Given the description of an element on the screen output the (x, y) to click on. 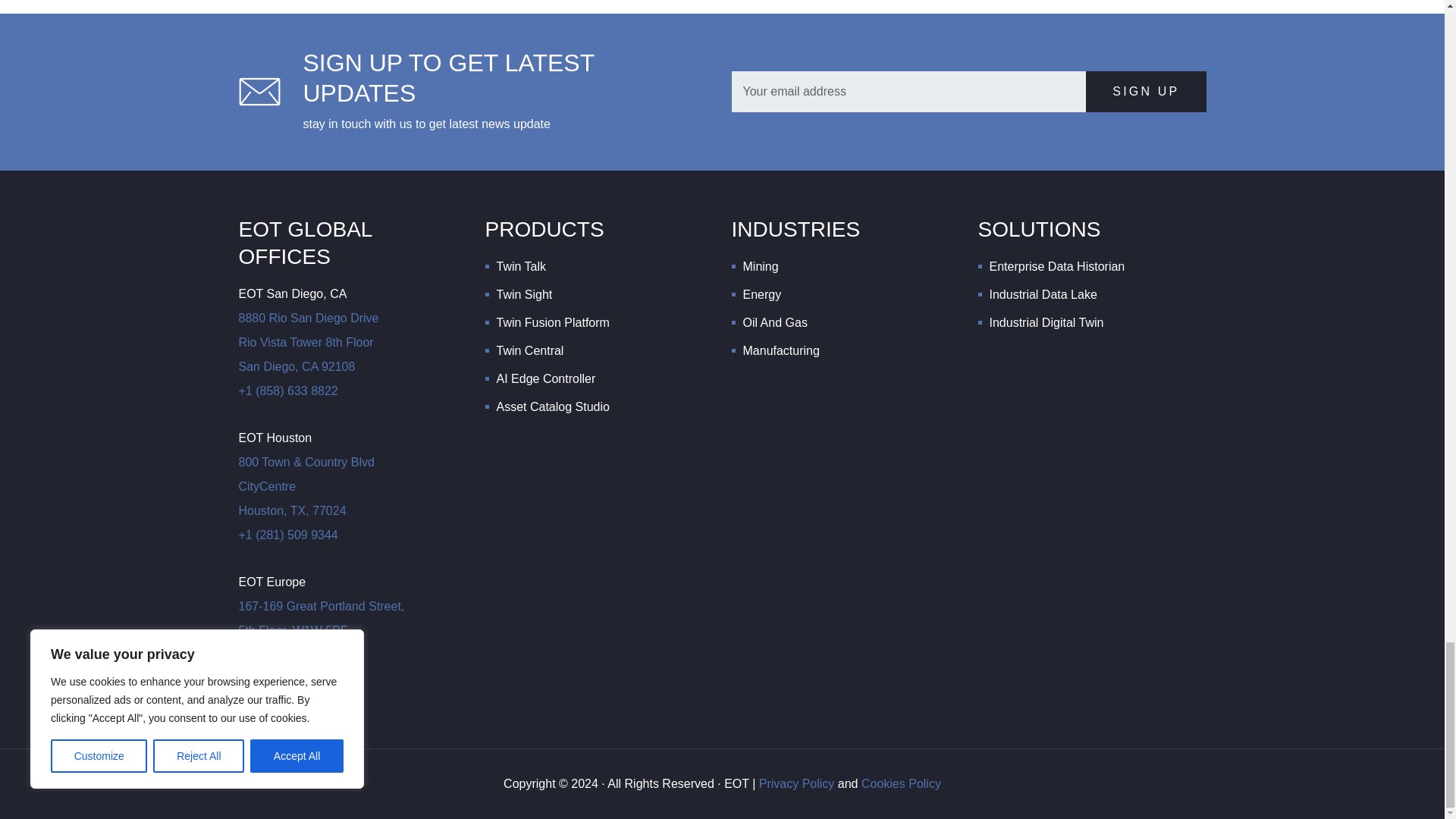
Sign up (1145, 91)
